Given the description of an element on the screen output the (x, y) to click on. 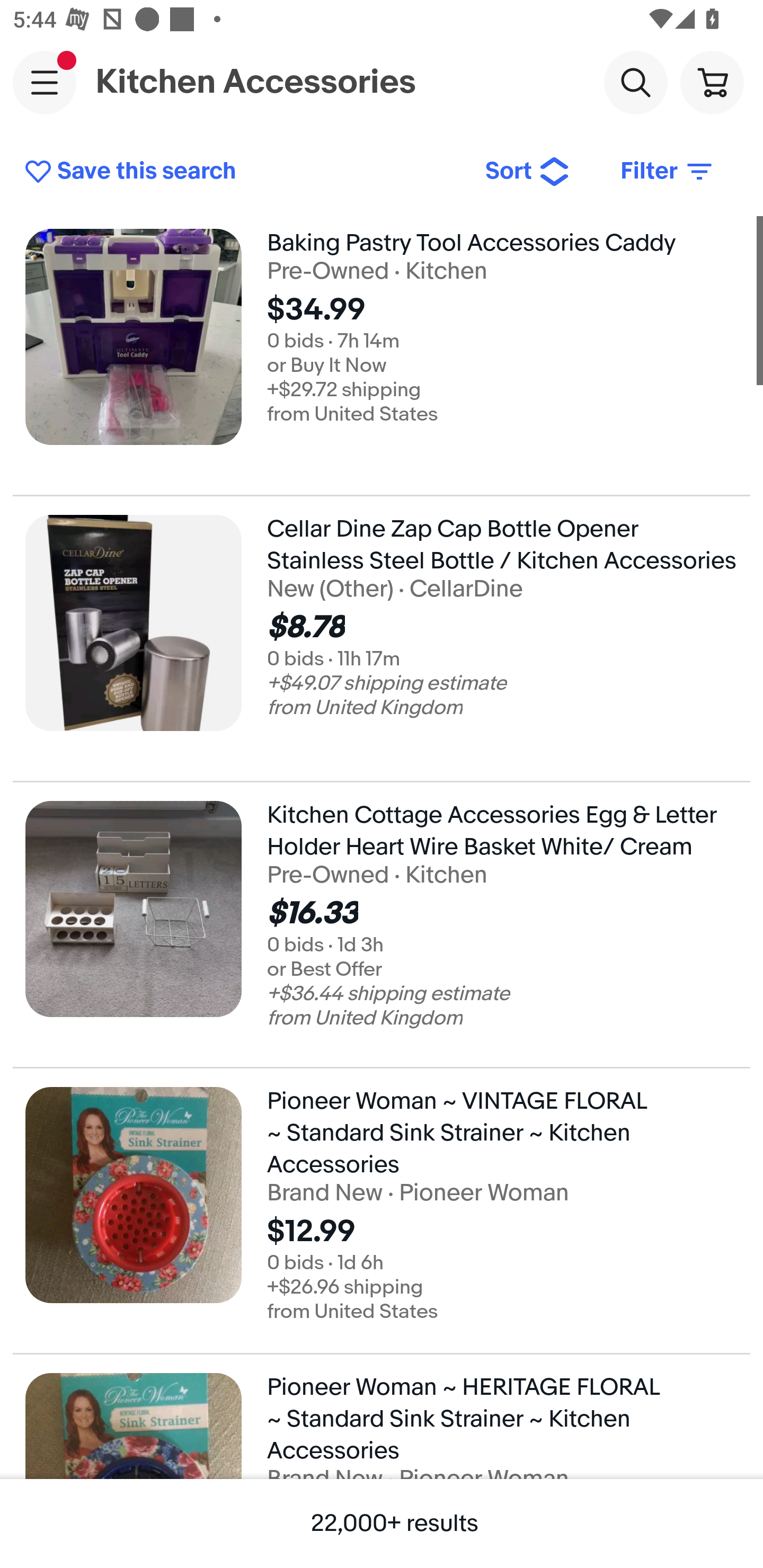
Main navigation, notification is pending, open (44, 82)
Search (635, 81)
Cart button shopping cart (711, 81)
Save this search (241, 171)
Sort (527, 171)
Filter (667, 171)
